Given the description of an element on the screen output the (x, y) to click on. 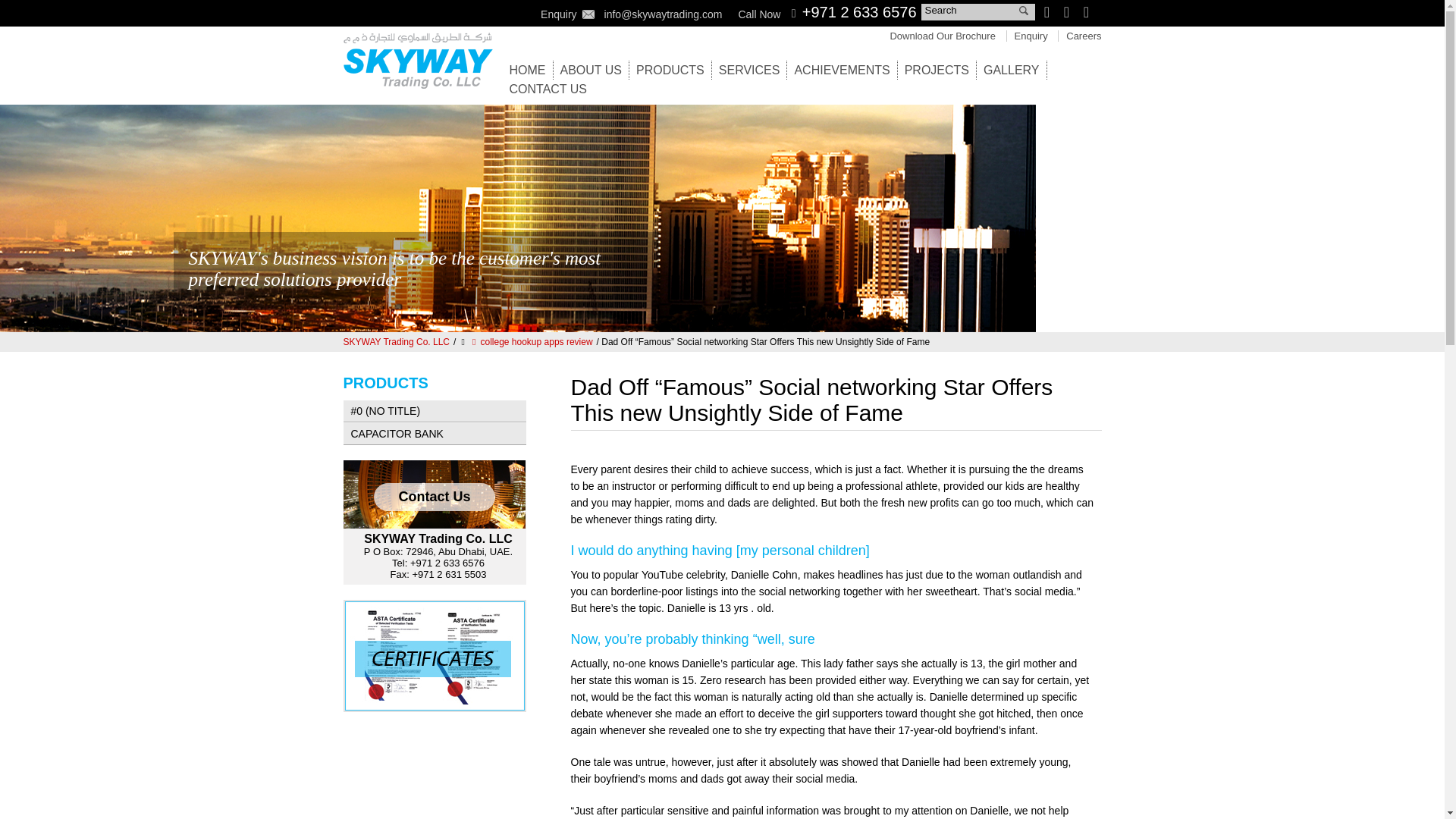
Go to the college hookup apps review category archives. (530, 341)
GALLERY (1011, 69)
ACHIEVEMENTS (841, 69)
ABOUT US (590, 69)
PRODUCTS (670, 69)
Enquiry (1031, 35)
Download Our Brochure (941, 35)
CONTACT US (548, 88)
CAPACITOR BANK (434, 433)
college hookup apps review (530, 341)
Go to SKYWAY Trading Co. LLC. (395, 341)
PROJECTS (936, 69)
Careers (1082, 35)
HOME (527, 69)
SERVICES (749, 69)
